Given the description of an element on the screen output the (x, y) to click on. 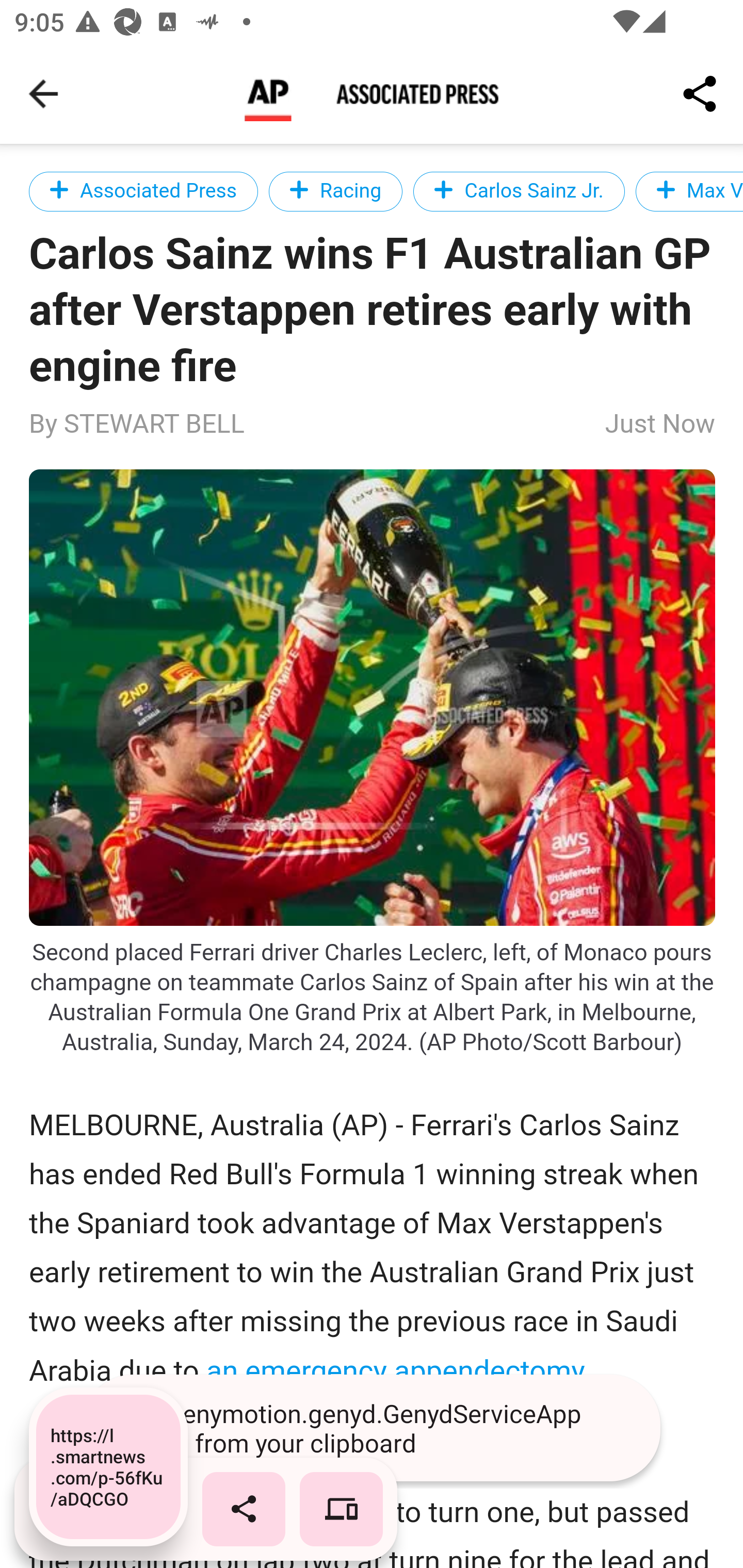
Associated Press (142, 191)
Racing (335, 191)
Carlos Sainz Jr. (518, 191)
Max Verstappen (688, 191)
